Given the description of an element on the screen output the (x, y) to click on. 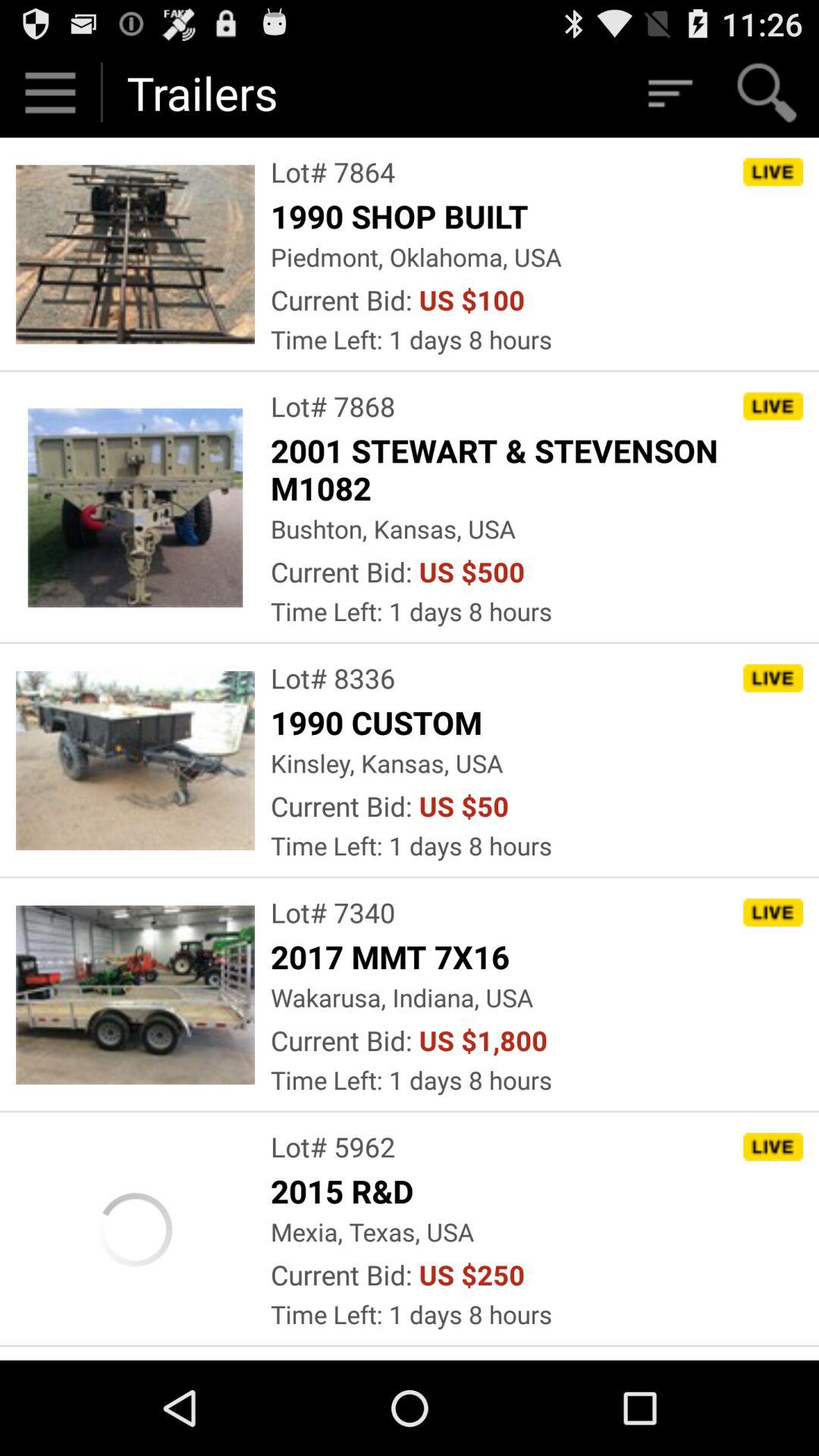
scroll until mexia, texas, usa (372, 1231)
